Given the description of an element on the screen output the (x, y) to click on. 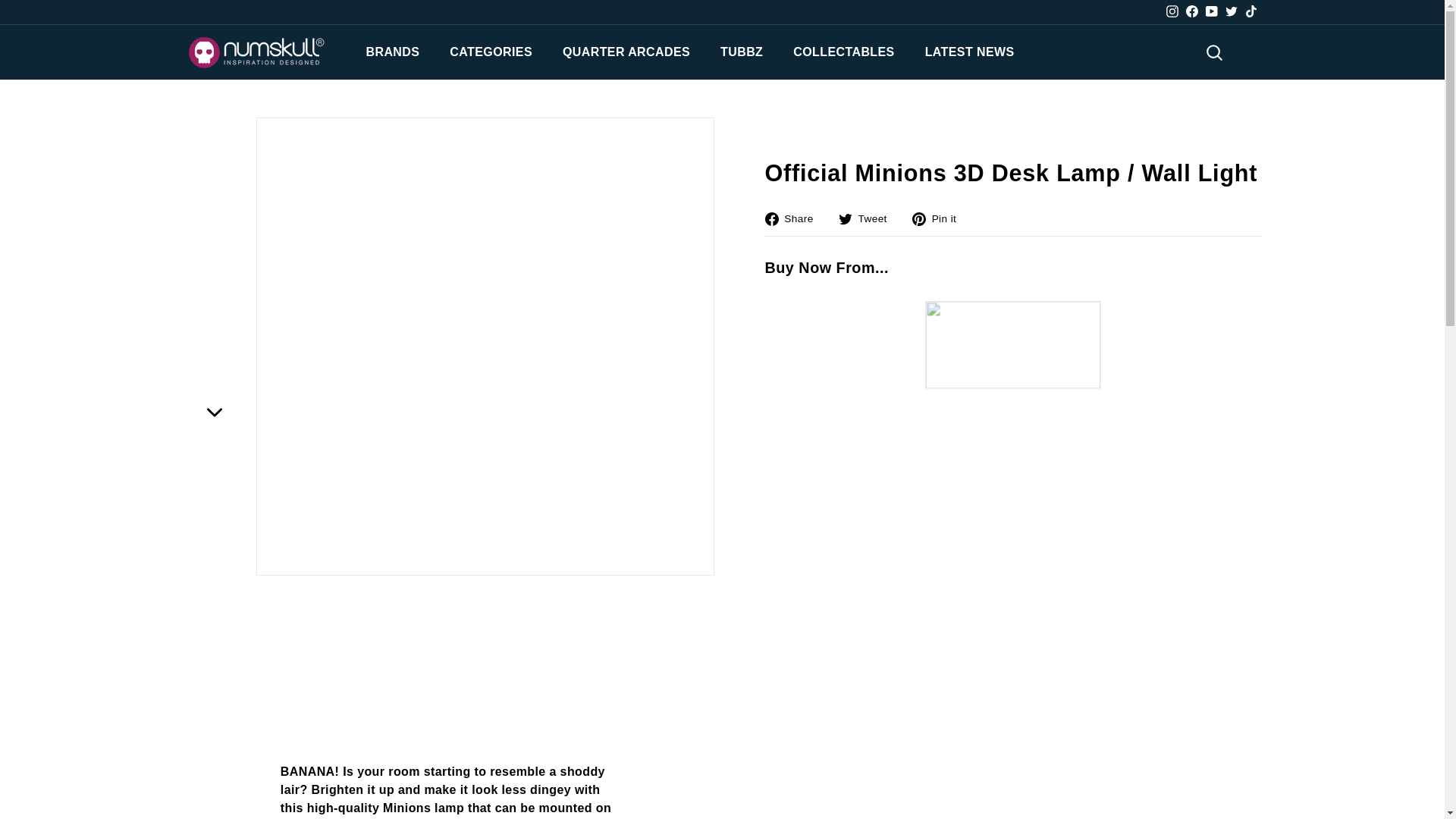
Share on Facebook (794, 218)
Tweet on Twitter (868, 218)
BRANDS (391, 51)
Pin on Pinterest (940, 218)
